Given the description of an element on the screen output the (x, y) to click on. 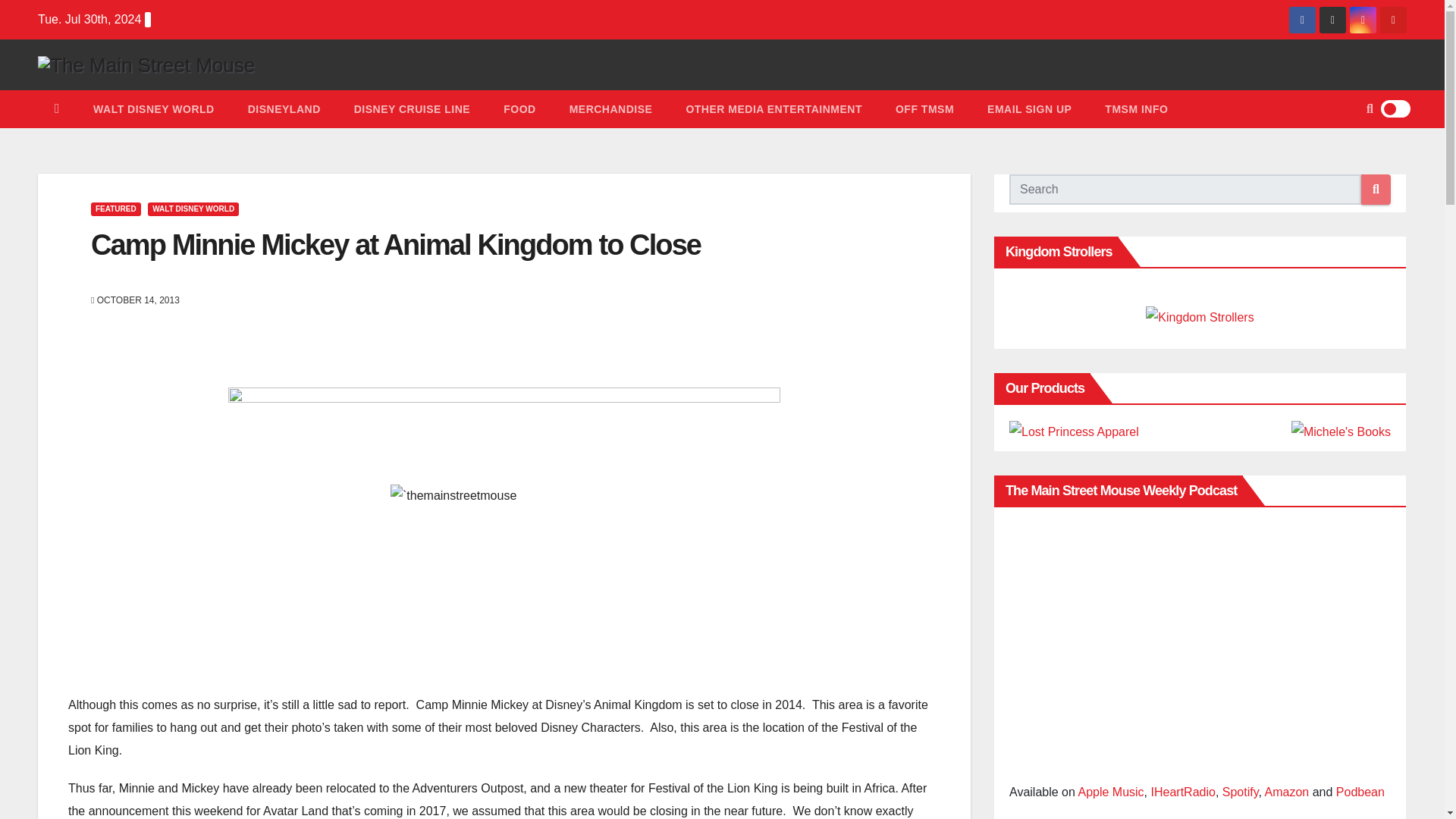
MERCHANDISE (611, 108)
Off TMSM (925, 108)
WALT DISNEY WORLD (193, 209)
FOOD (518, 108)
Merchandise (611, 108)
Disneyland (284, 108)
Email Sign Up (1029, 108)
Walt Disney World (154, 108)
OTHER MEDIA ENTERTAINMENT (773, 108)
FEATURED (115, 209)
WALT DISNEY WORLD (154, 108)
Home (57, 108)
TMSM INFO (1136, 108)
Food (518, 108)
TMSM Info (1136, 108)
